Given the description of an element on the screen output the (x, y) to click on. 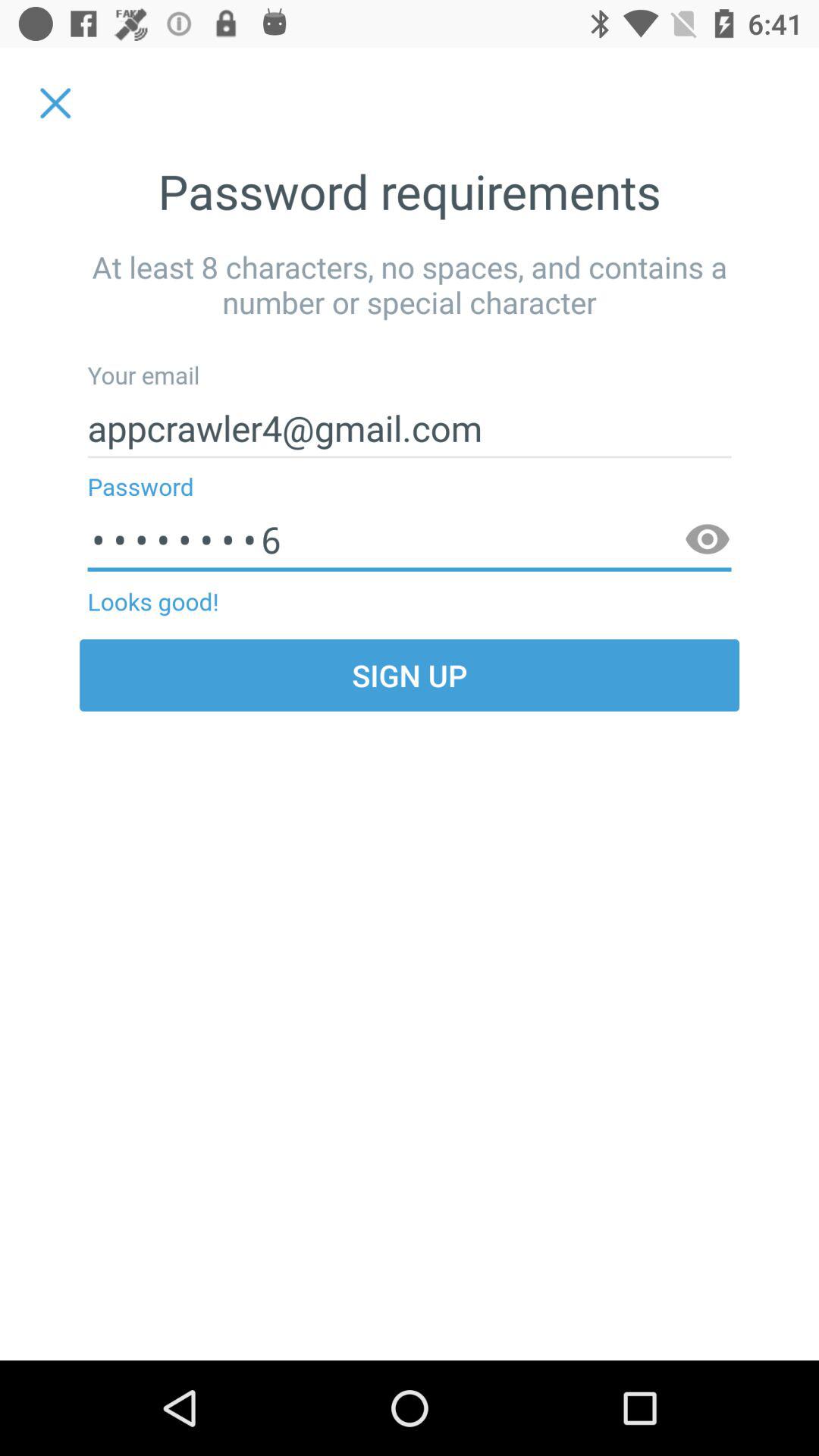
turn off item to the left of the password requirements (55, 103)
